Given the description of an element on the screen output the (x, y) to click on. 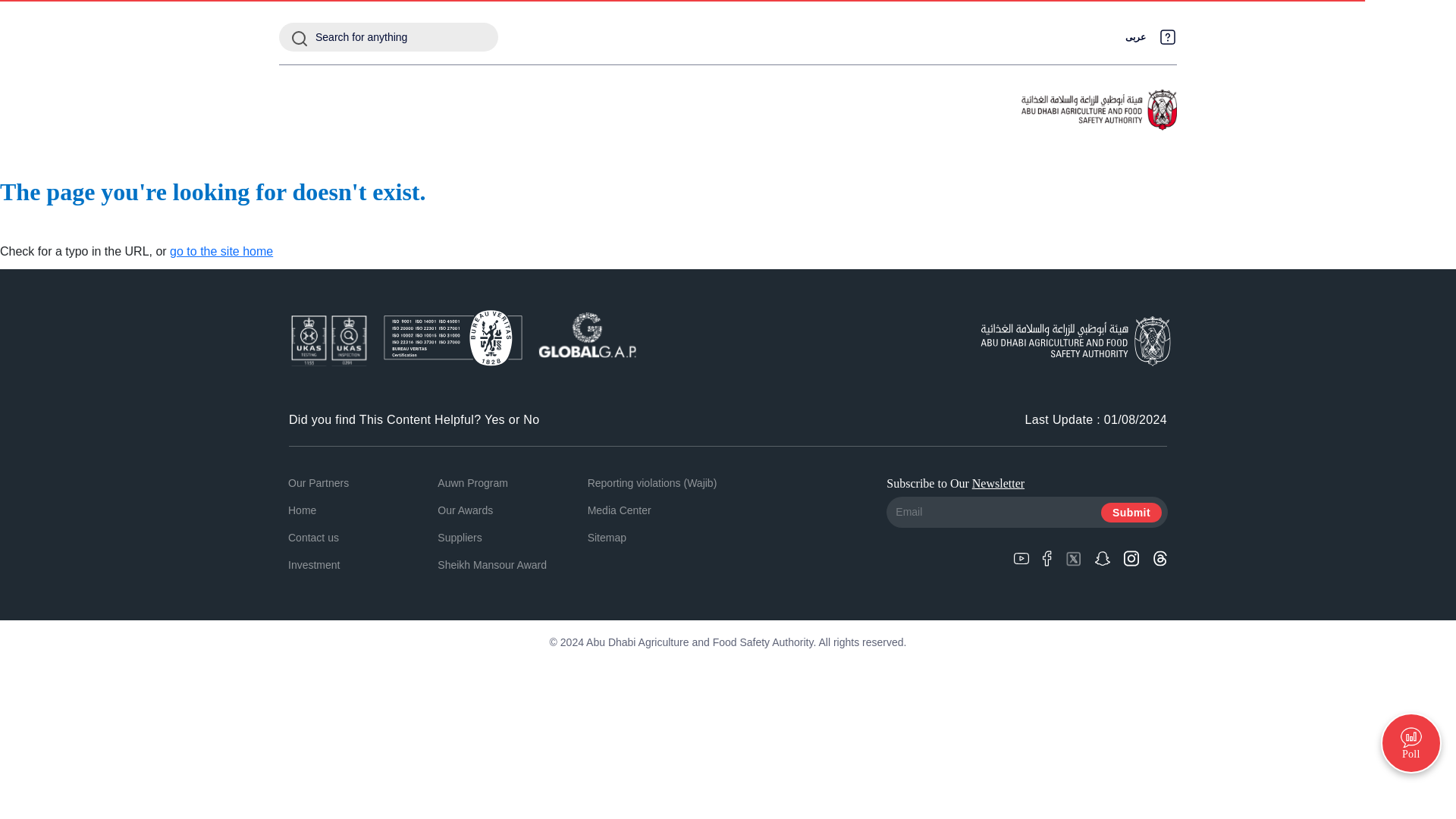
Investment (313, 564)
Home (301, 510)
Home (301, 510)
Auwn Program (473, 482)
Sheikh Mansour Award (492, 564)
YouTube (1021, 557)
Yes (494, 419)
Sitemap (607, 537)
ABU DHABI AGRICULTURE AND FOOD SAFETY AUTHORITY (1099, 109)
Media Center (619, 510)
